Given the description of an element on the screen output the (x, y) to click on. 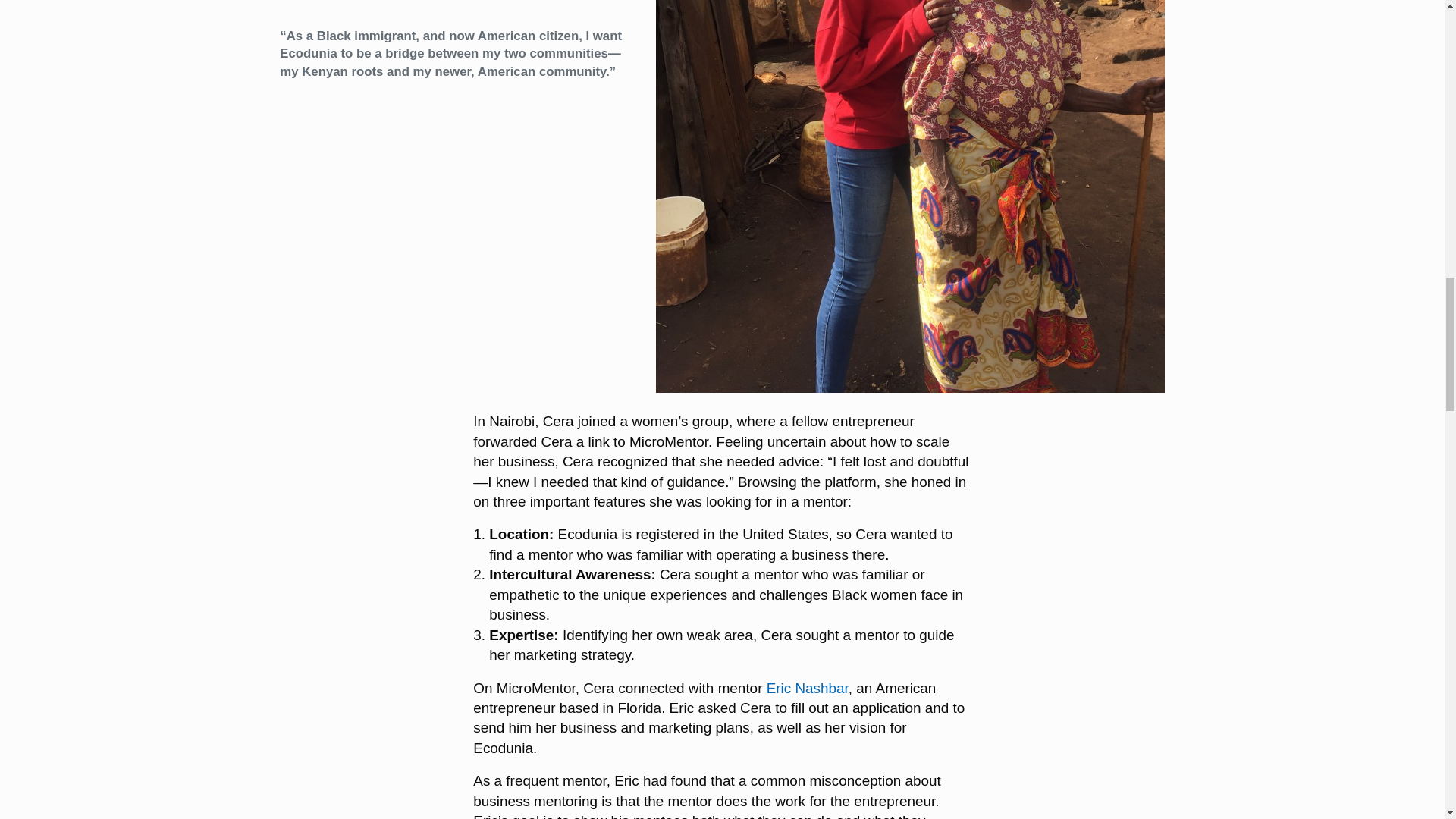
Eric Nashbar (807, 688)
